Given the description of an element on the screen output the (x, y) to click on. 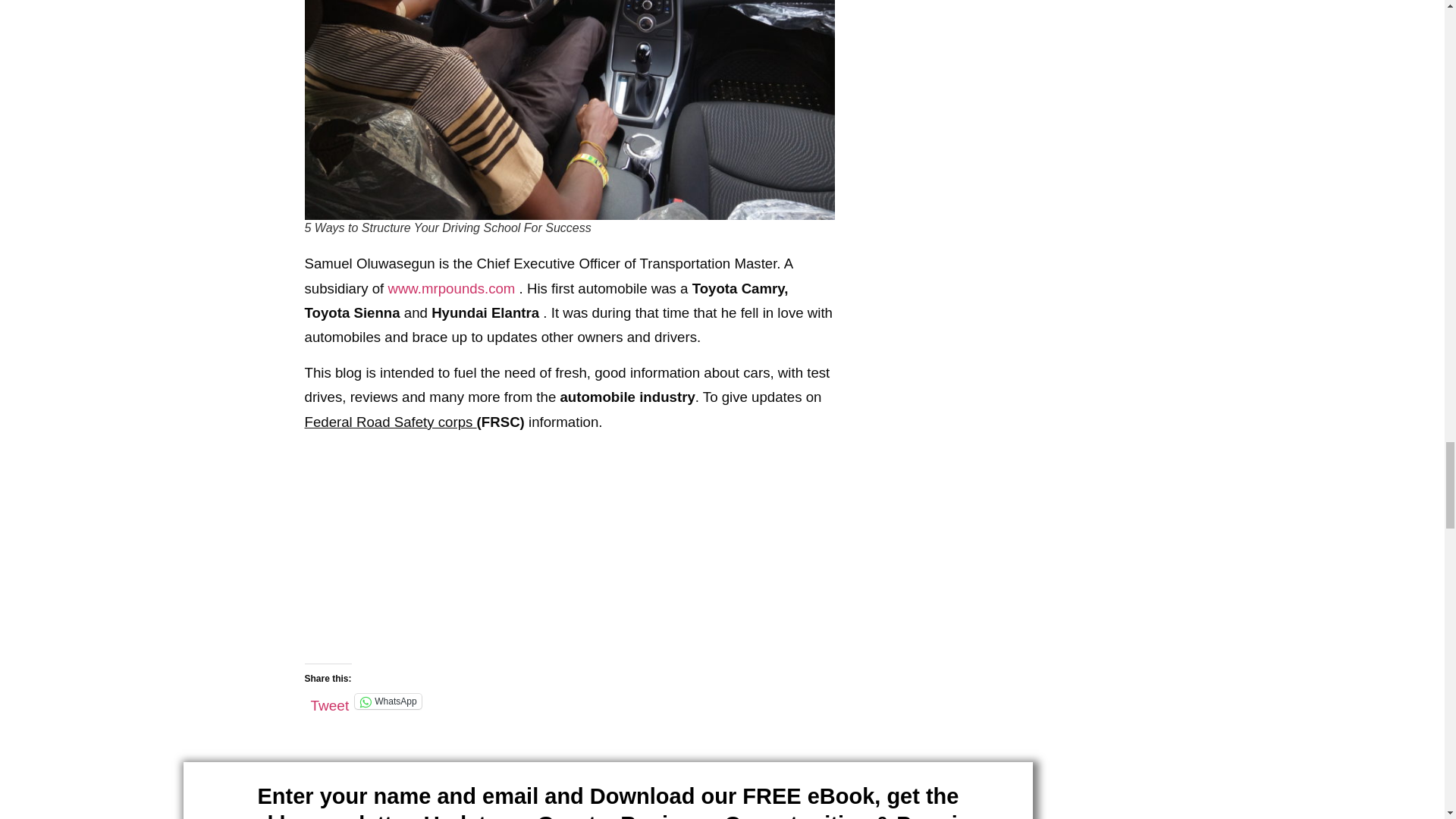
Click to share on WhatsApp (387, 701)
